Given the description of an element on the screen output the (x, y) to click on. 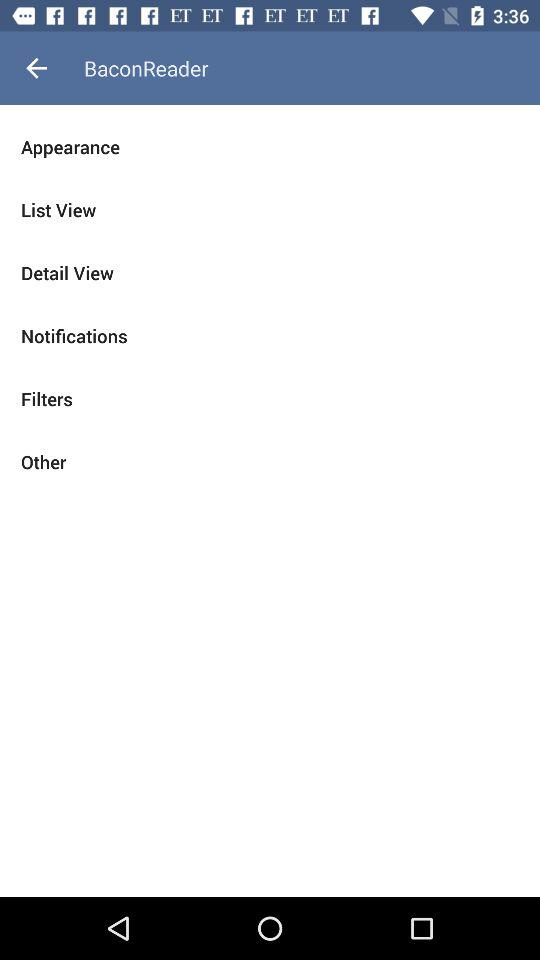
open the icon above the filters item (270, 335)
